Given the description of an element on the screen output the (x, y) to click on. 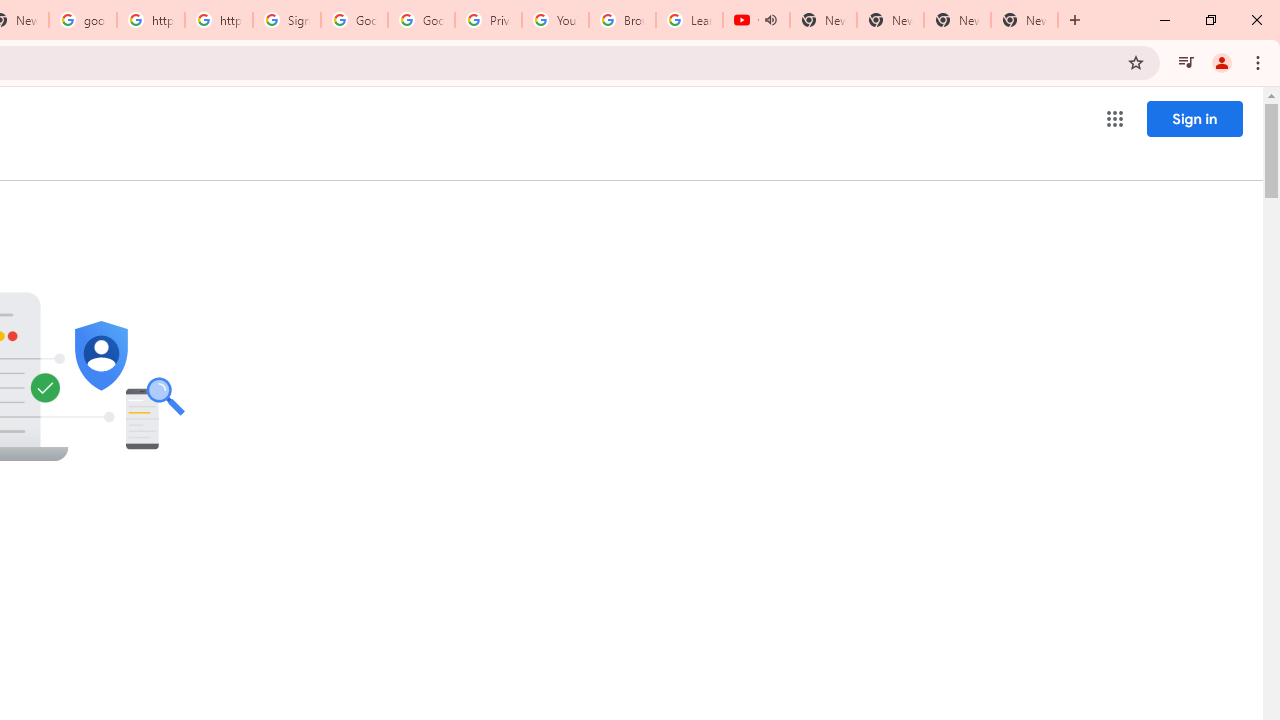
Mute tab (770, 20)
